Given the description of an element on the screen output the (x, y) to click on. 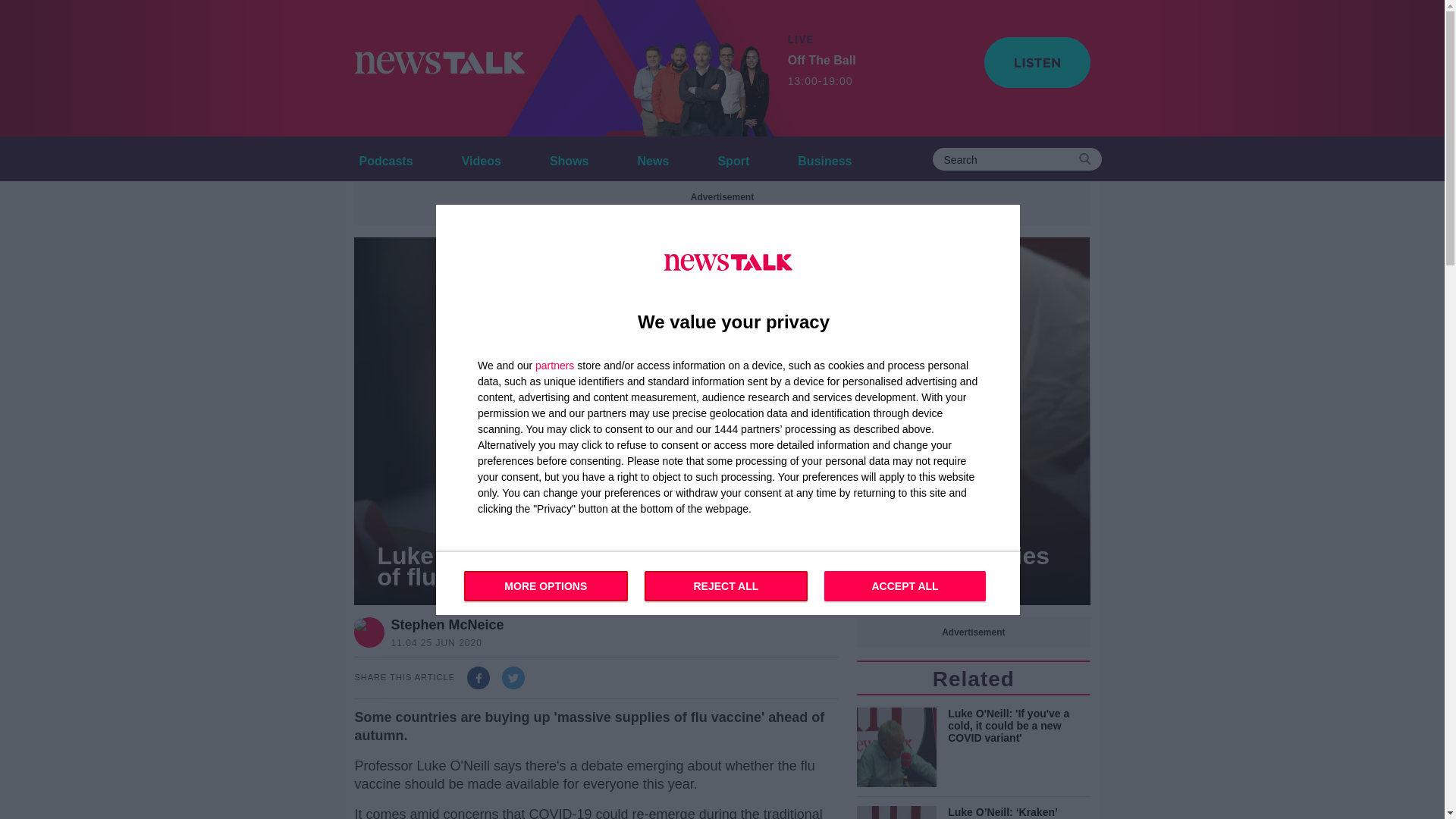
Videos (481, 158)
News (653, 158)
Podcasts (384, 158)
Stephen McNeice (446, 624)
Shows (569, 158)
Off The Ball (701, 68)
Shows (569, 158)
partners (554, 364)
REJECT ALL (726, 585)
MORE OPTIONS (545, 585)
Videos (481, 158)
Podcasts (384, 158)
Sport (733, 158)
Business (824, 158)
Sport (733, 158)
